Given the description of an element on the screen output the (x, y) to click on. 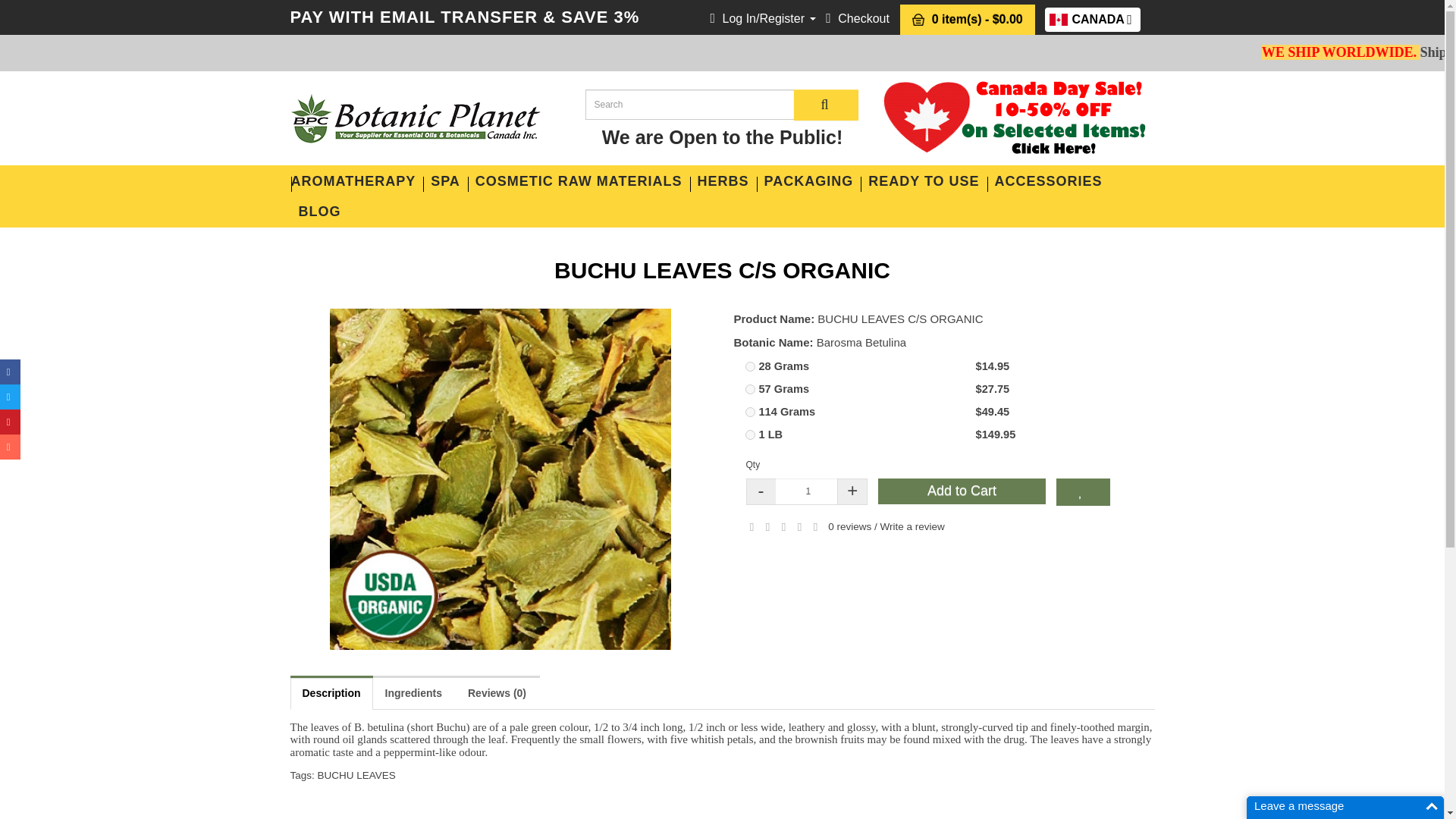
Botanic Planet Canada Inc (414, 118)
AROMATHERAPY (357, 181)
Checkout (857, 18)
21475 (749, 366)
My Account (762, 18)
7794 (749, 411)
Checkout (857, 18)
COSMETIC RAW MATERIALS (578, 181)
21474 (749, 388)
1 (808, 491)
SPA (1092, 19)
21965 (445, 181)
